Given the description of an element on the screen output the (x, y) to click on. 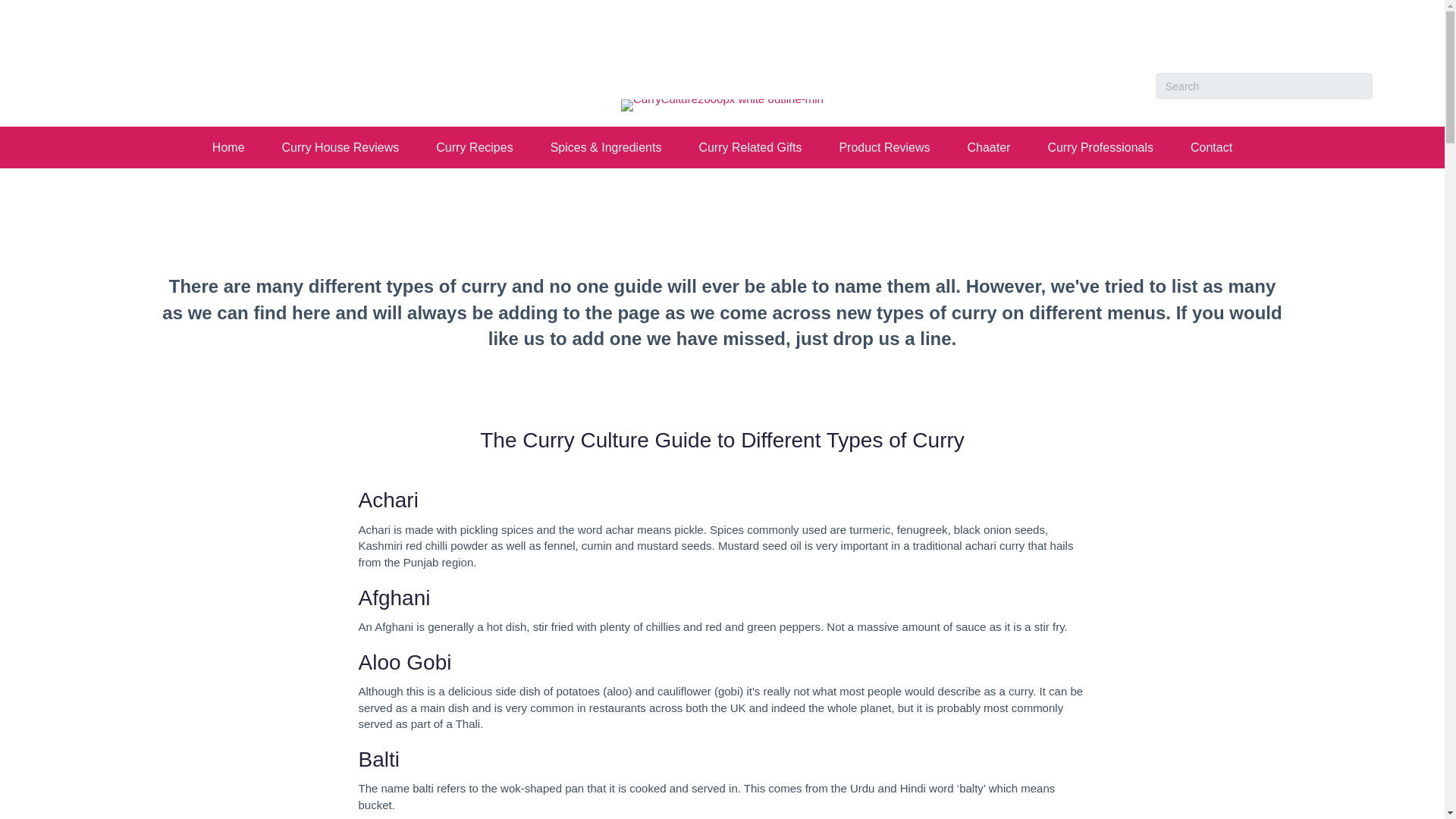
Home (228, 147)
Type and press Enter to search. (1264, 85)
Chaater (988, 147)
Curry Related Gifts (749, 147)
Product Reviews (884, 147)
CurryCulture2000px white outline-min (722, 105)
Curry House Reviews (340, 147)
Curry Recipes (474, 147)
Curry Professionals (1100, 147)
Contact (1211, 147)
